Given the description of an element on the screen output the (x, y) to click on. 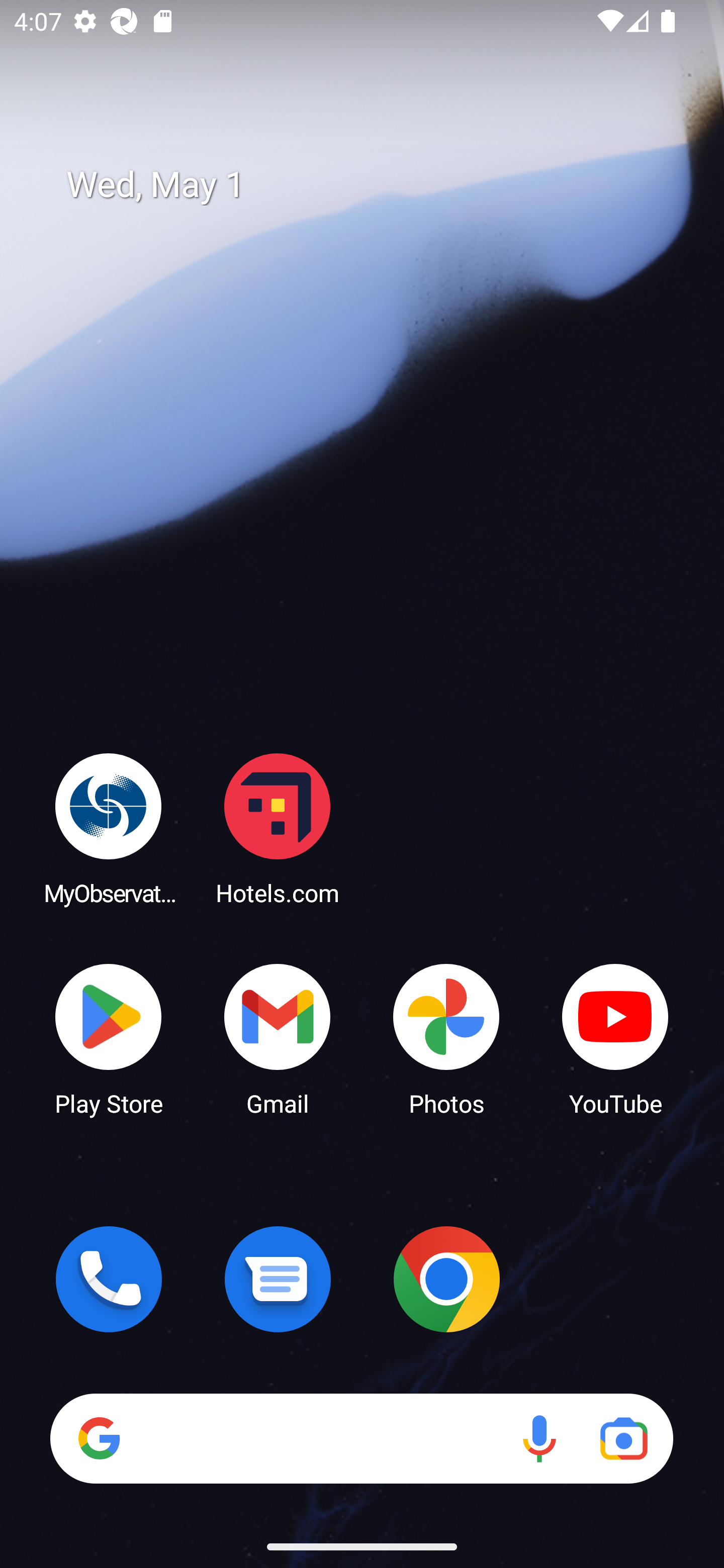
Wed, May 1 (375, 184)
MyObservatory (108, 828)
Hotels.com (277, 828)
Play Store (108, 1038)
Gmail (277, 1038)
Photos (445, 1038)
YouTube (615, 1038)
Phone (108, 1279)
Messages (277, 1279)
Chrome (446, 1279)
Search Voice search Google Lens (361, 1438)
Voice search (539, 1438)
Google Lens (623, 1438)
